Given the description of an element on the screen output the (x, y) to click on. 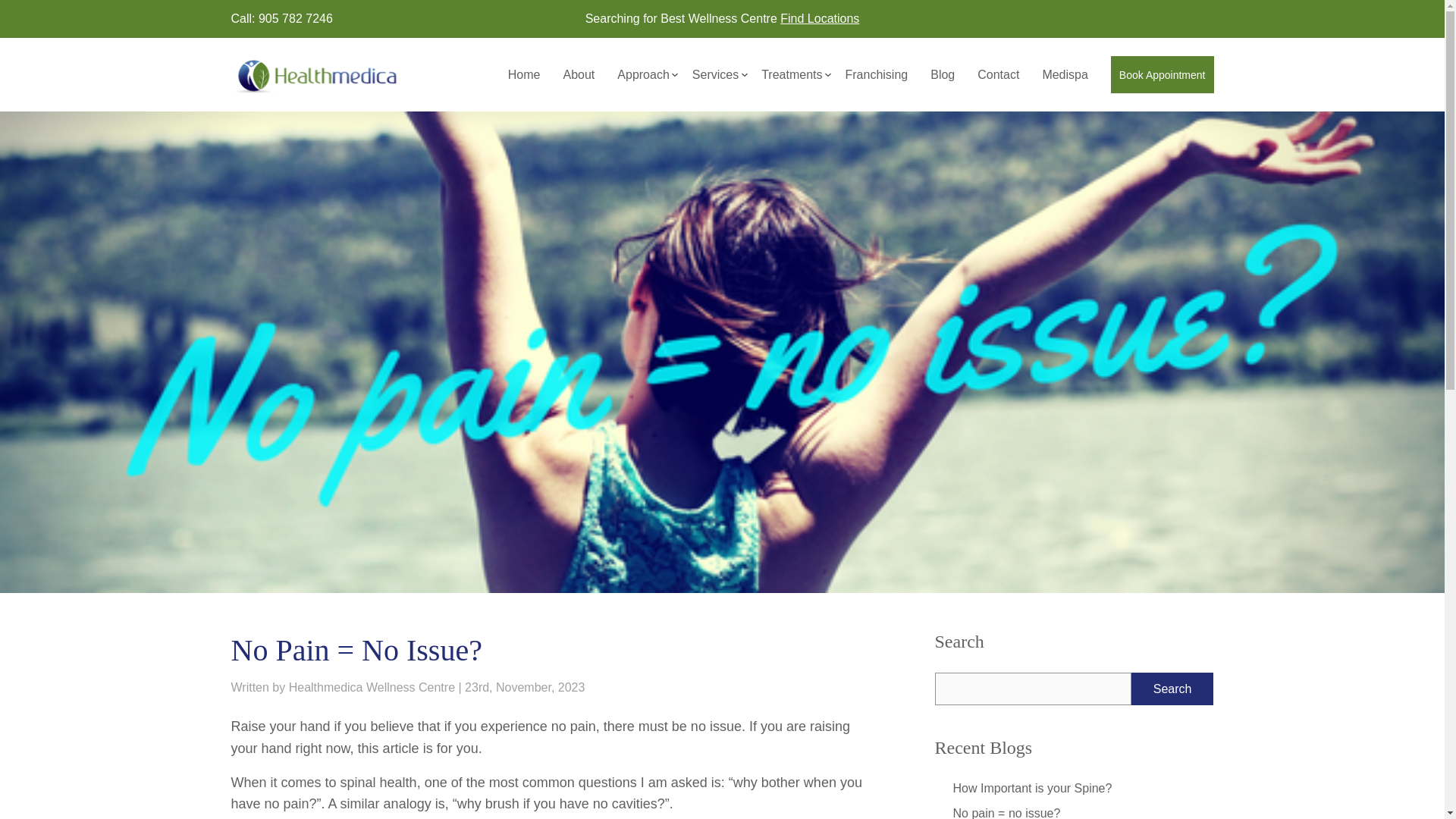
Services (715, 81)
Posts by Healthmedica Wellness Centre (371, 686)
Home (524, 81)
Contact (997, 81)
About (578, 81)
Call: 905 782 7246 (280, 18)
Book Appointment (1162, 74)
Find Locations (819, 18)
Blog (942, 81)
Treatments (791, 81)
